Given the description of an element on the screen output the (x, y) to click on. 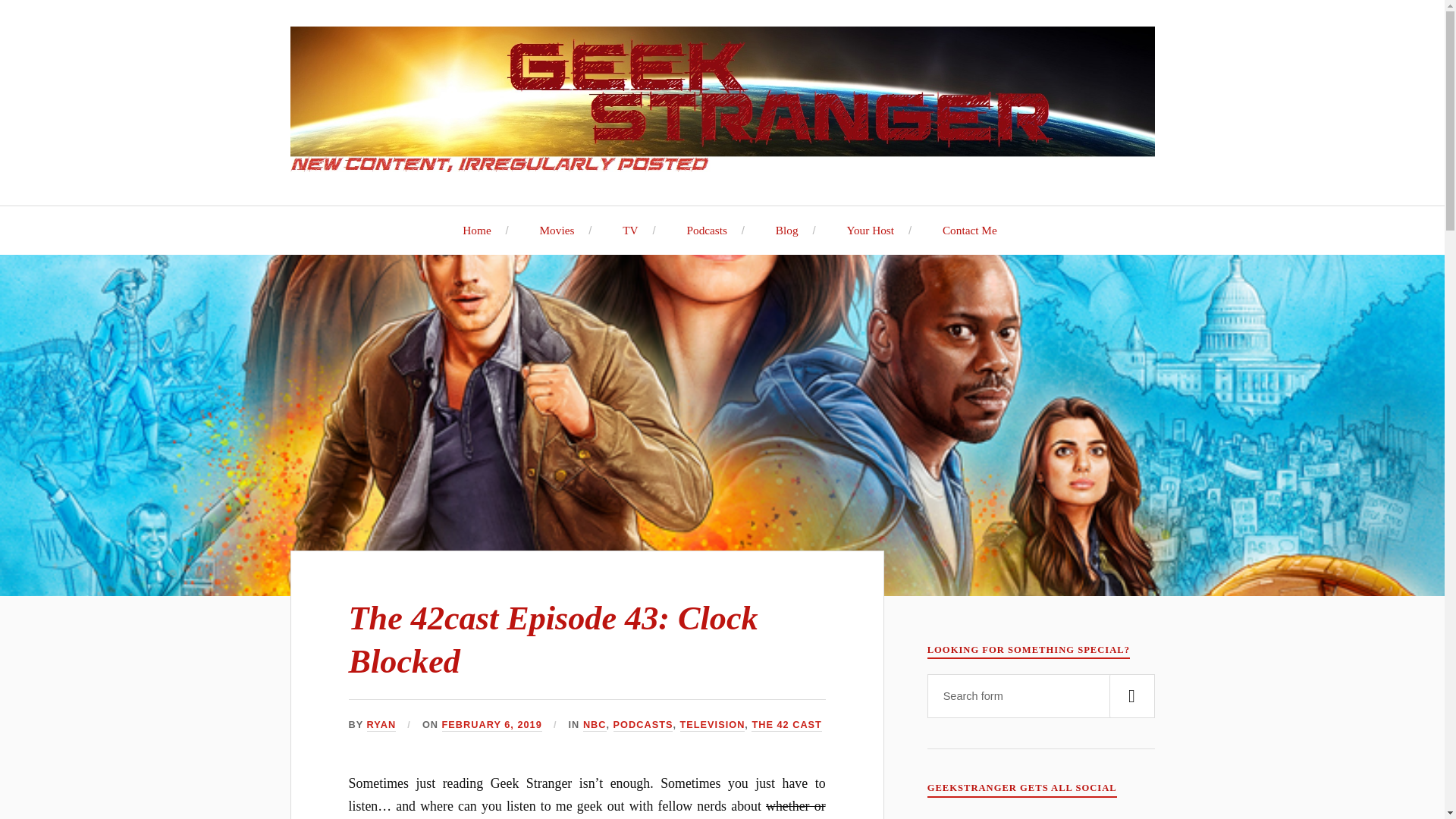
Podcasts (698, 229)
Movies (549, 229)
FEBRUARY 6, 2019 (491, 725)
Contact Me (962, 229)
NBC (595, 725)
Your Host (862, 229)
TELEVISION (712, 725)
Kick back, stay awhile (468, 229)
Sort of like what I write, but less thought out. (698, 229)
PODCASTS (642, 725)
With the Most (862, 229)
THE 42 CAST (786, 725)
RYAN (381, 725)
Home (468, 229)
Posts by Ryan (381, 725)
